Given the description of an element on the screen output the (x, y) to click on. 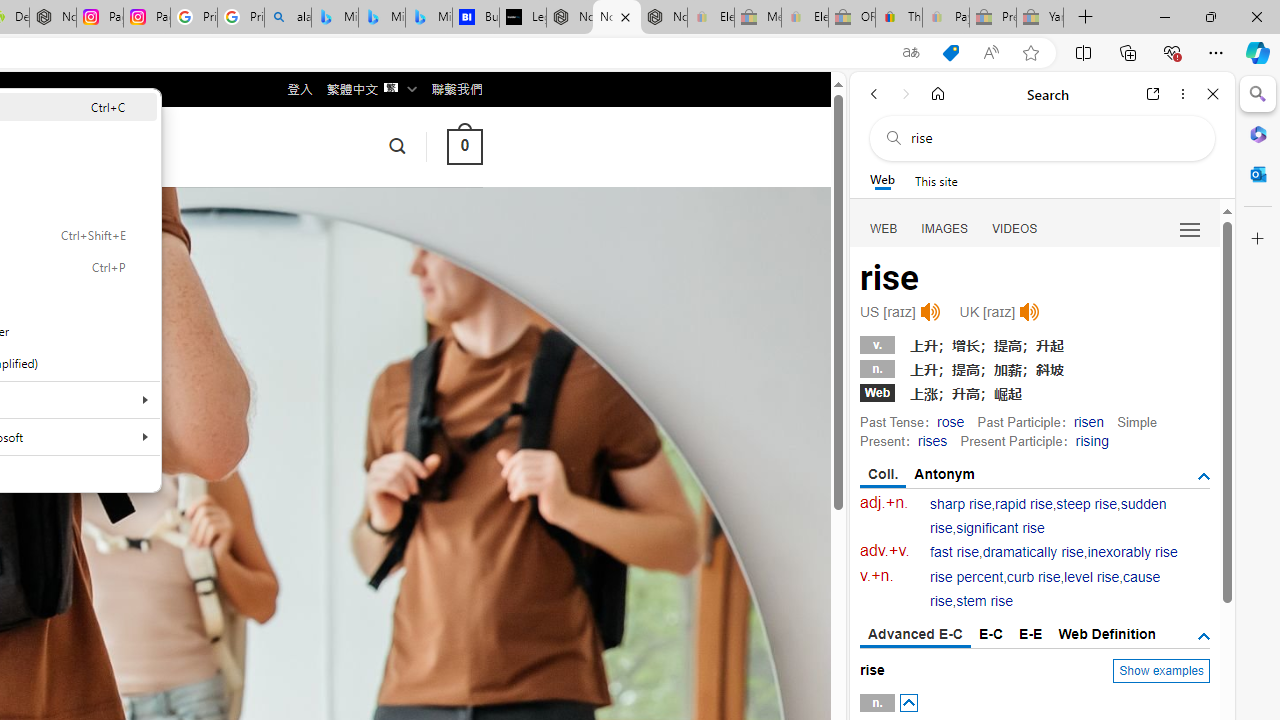
Web Definition (1106, 633)
cause rise (1045, 589)
significant rise (1000, 528)
rose (950, 421)
E-E (1030, 633)
rapid rise (1023, 503)
alabama high school quarterback dies - Search (288, 17)
WEB (884, 228)
stem rise (984, 601)
This site scope (936, 180)
